Given the description of an element on the screen output the (x, y) to click on. 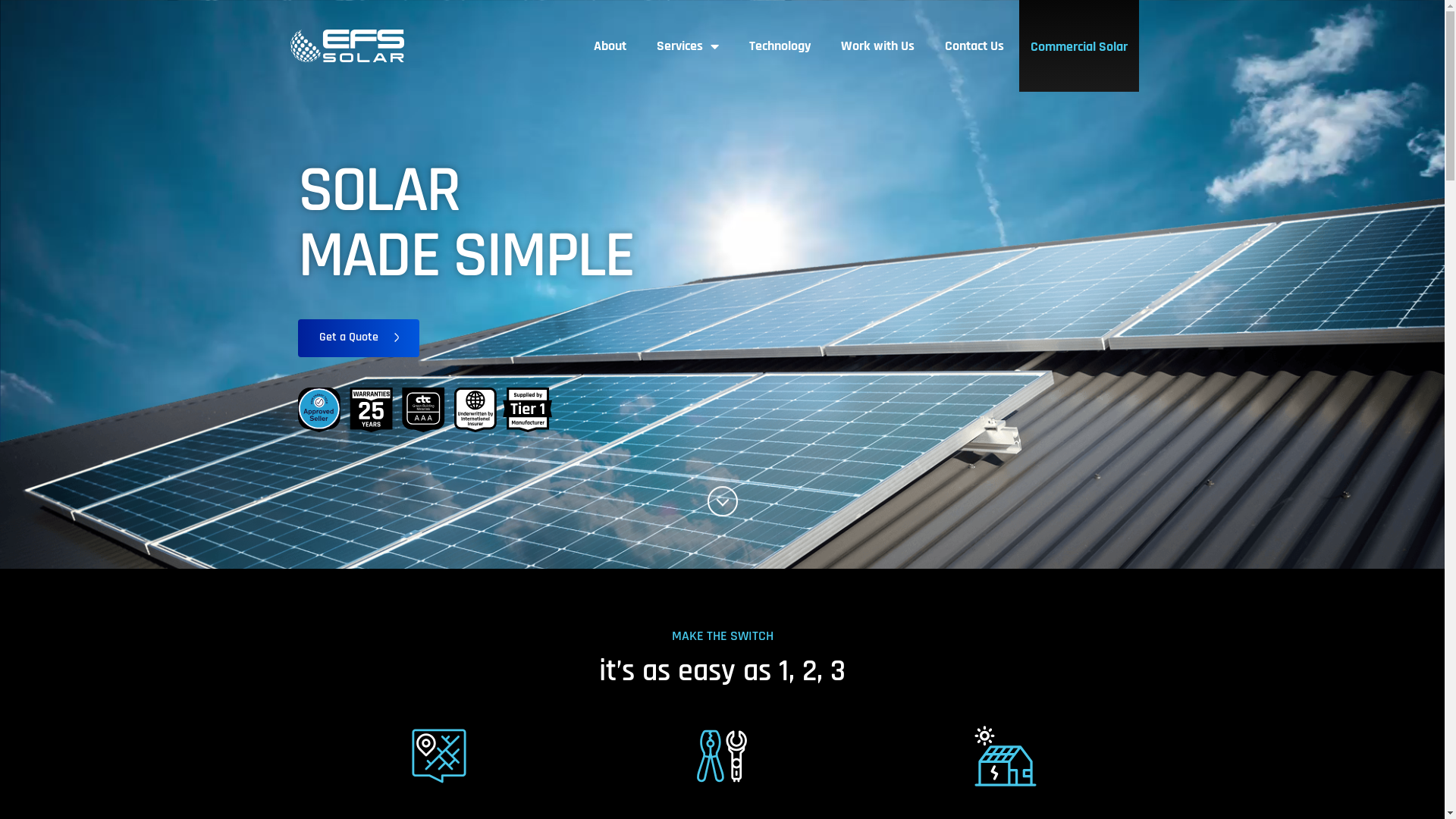
Contact Us Element type: text (974, 45)
Technology Element type: text (779, 45)
Asset 30 - EFS Solar - EFS Solar Element type: hover (438, 755)
Get a Quote Element type: text (357, 338)
Asset 2 - EFS Solar - EFS Solar Element type: hover (424, 409)
Asset 29 - EFS Solar - EFS Solar Element type: hover (721, 755)
Asset 7 - EFS Solar Element type: hover (346, 45)
Asset 28 - EFS Solar - EFS Solar Element type: hover (1005, 755)
Work with Us Element type: text (877, 45)
About Element type: text (609, 45)
Services Element type: text (687, 45)
